Given the description of an element on the screen output the (x, y) to click on. 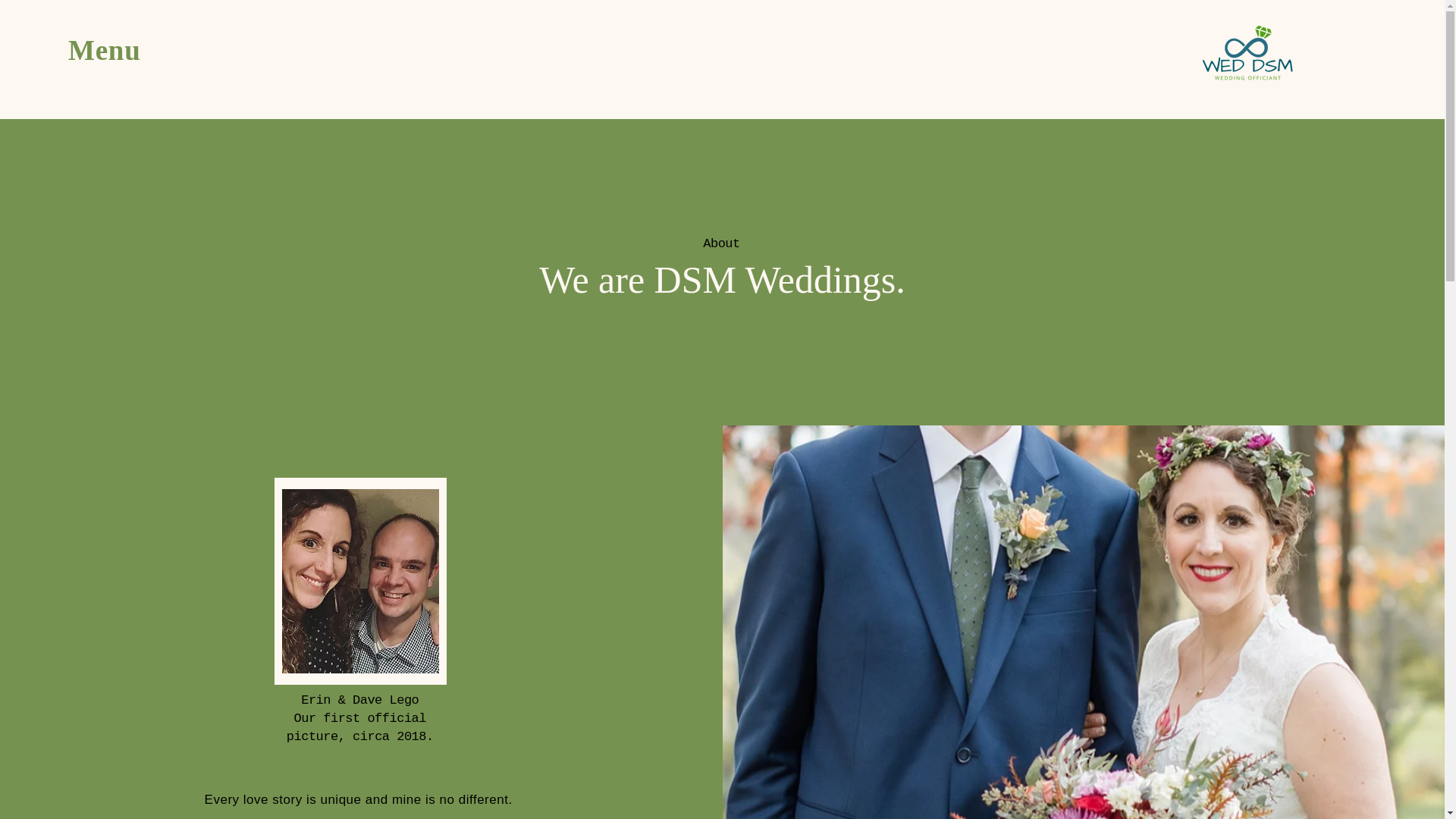
Menu (103, 50)
